Given the description of an element on the screen output the (x, y) to click on. 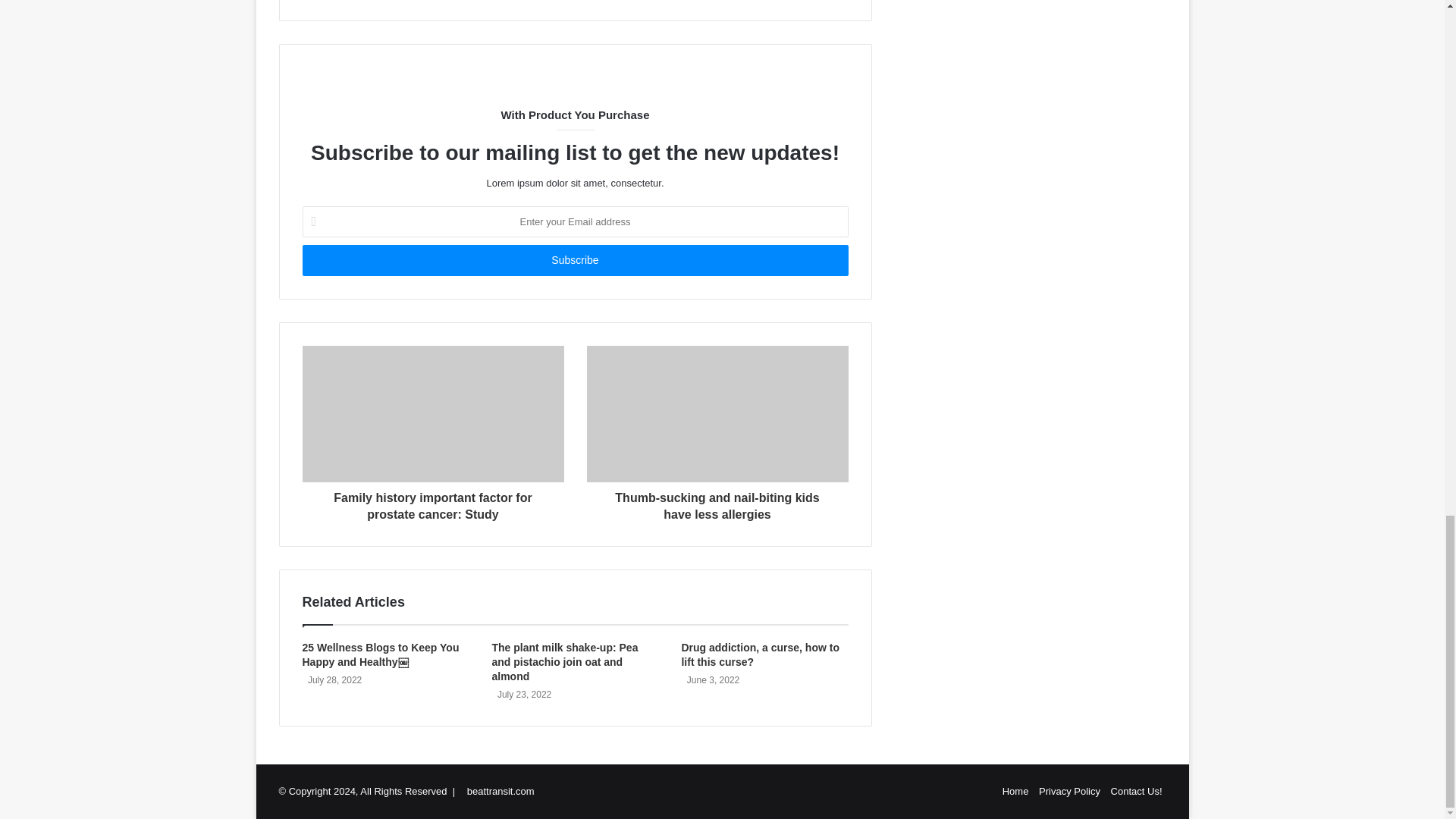
Subscribe (574, 260)
